Given the description of an element on the screen output the (x, y) to click on. 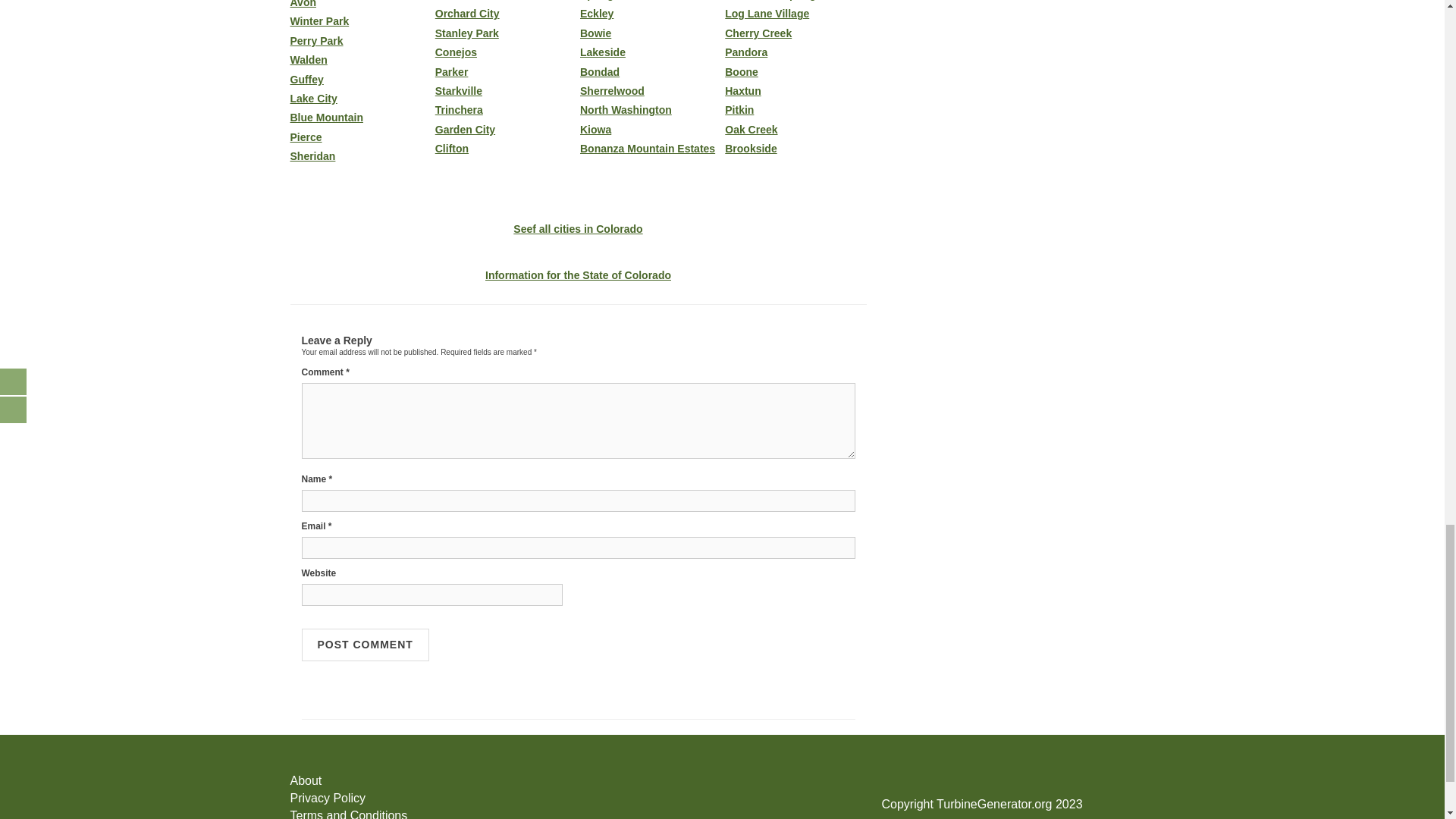
Conejos (505, 52)
Sheridan (359, 156)
Blue Mountain (359, 117)
Perry Park (359, 41)
Garden City (505, 129)
Orchard City (505, 13)
Starkville (505, 91)
Post Comment (365, 644)
Eckley (649, 13)
